Given the description of an element on the screen output the (x, y) to click on. 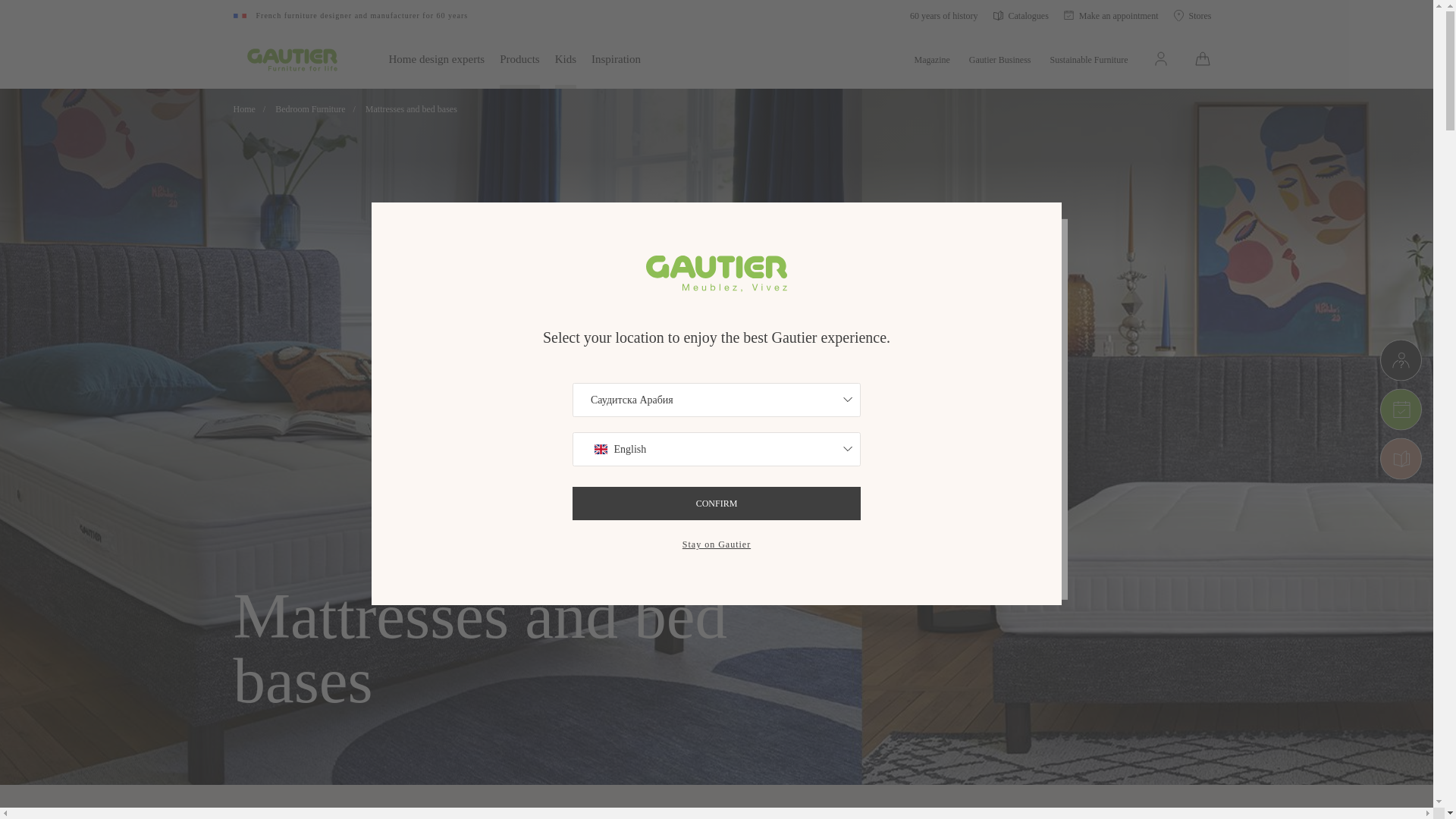
Home design experts (436, 57)
Your basket (1202, 54)
Account (1160, 57)
Stores (1192, 15)
Make an appointment (1111, 15)
Sustainable Furniture (1088, 57)
Gautier Business (999, 57)
Catalogues (1020, 15)
